Given the description of an element on the screen output the (x, y) to click on. 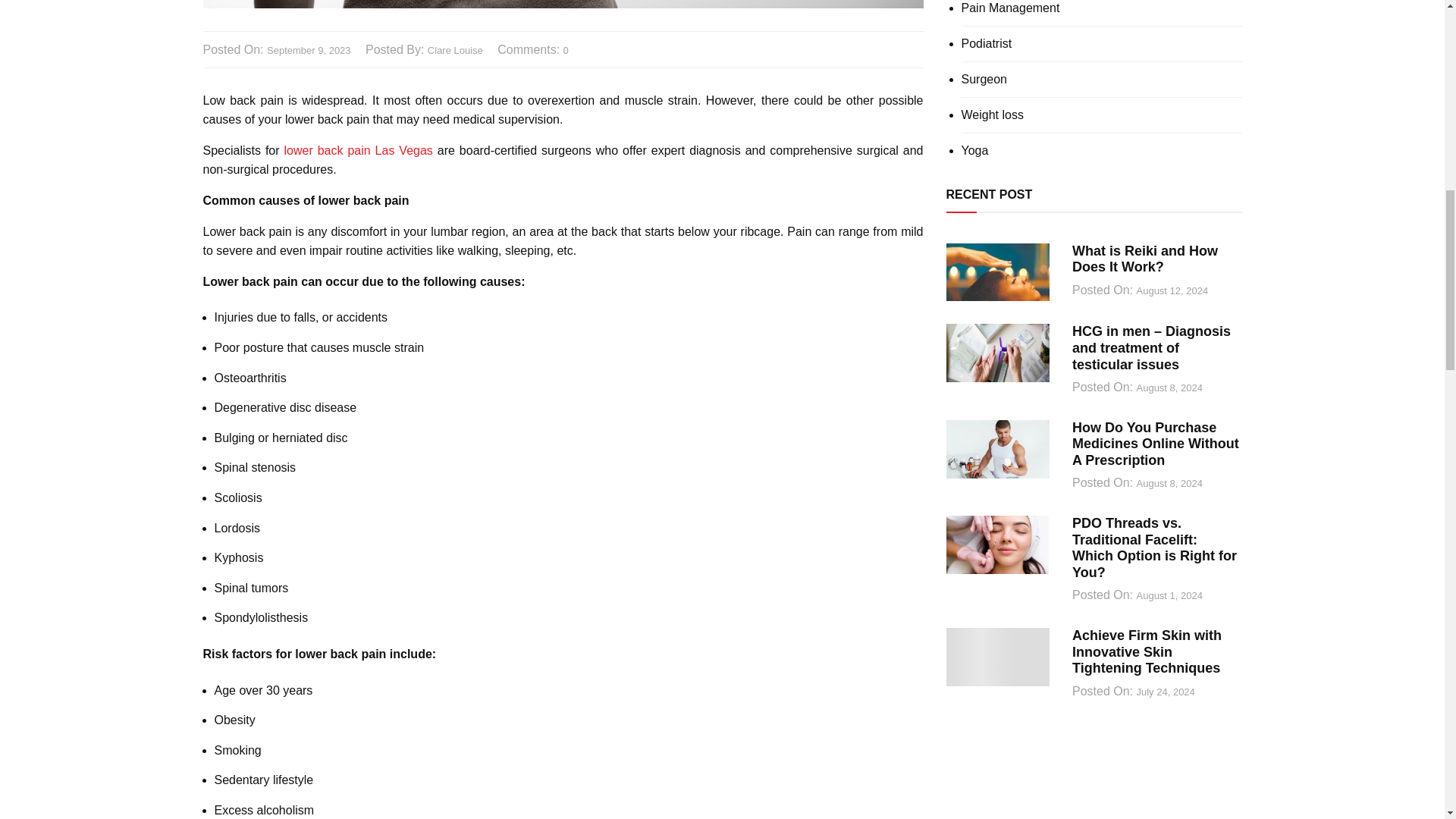
Surgeon (983, 79)
Pain Management (1009, 8)
What is Reiki and How Does It Work? (1144, 259)
Clare Louise (455, 50)
lower back pain Las Vegas (357, 150)
September 9, 2023 (308, 50)
Weight loss (991, 114)
Podiatrist (985, 43)
August 12, 2024 (1171, 291)
Yoga (974, 150)
